Given the description of an element on the screen output the (x, y) to click on. 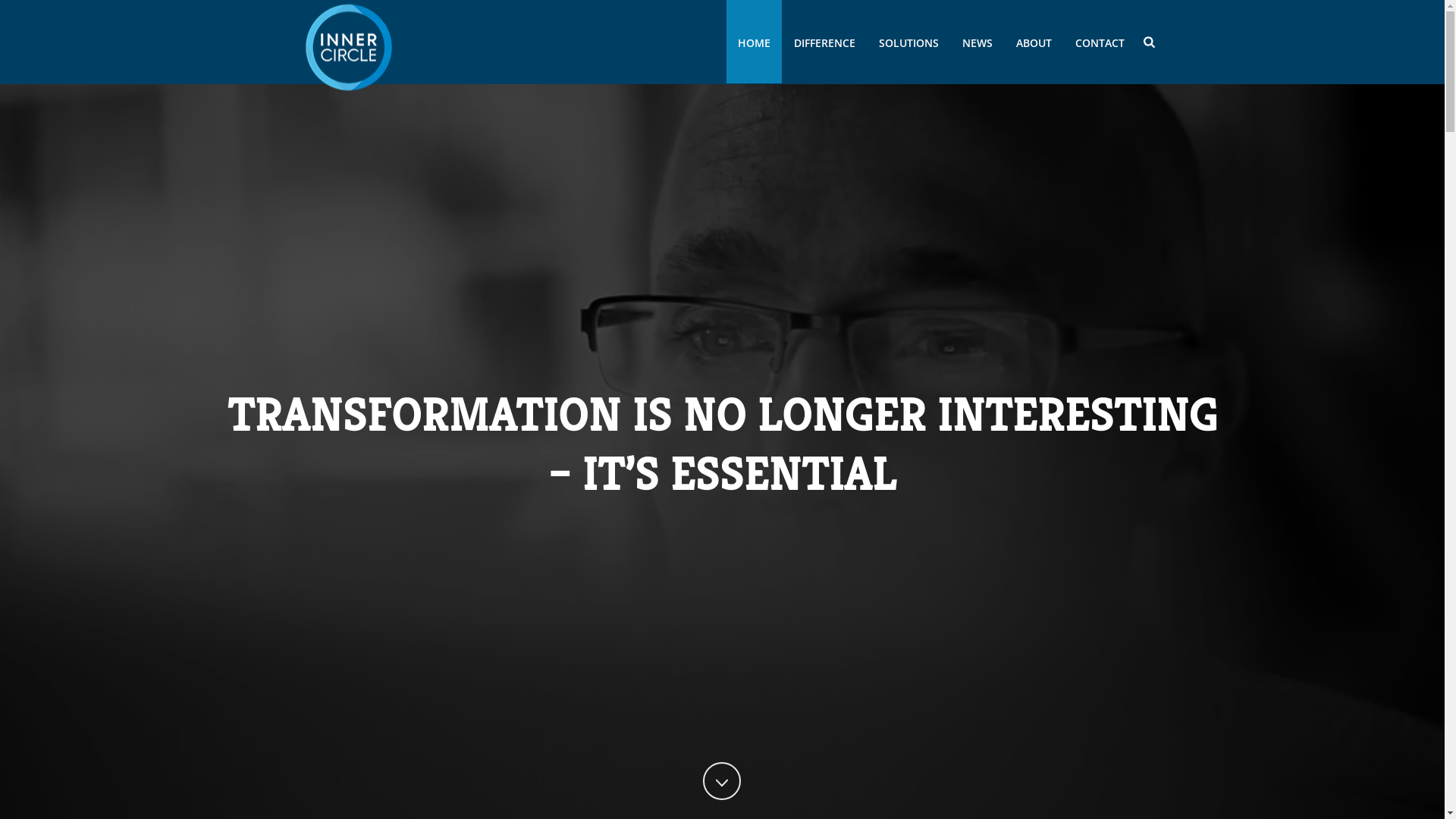
NEWS Element type: text (977, 41)
CONTACT Element type: text (1099, 41)
SOLUTIONS Element type: text (908, 41)
DIFFERENCE Element type: text (824, 41)
HOME Element type: text (753, 41)
ABOUT Element type: text (1033, 41)
